Given the description of an element on the screen output the (x, y) to click on. 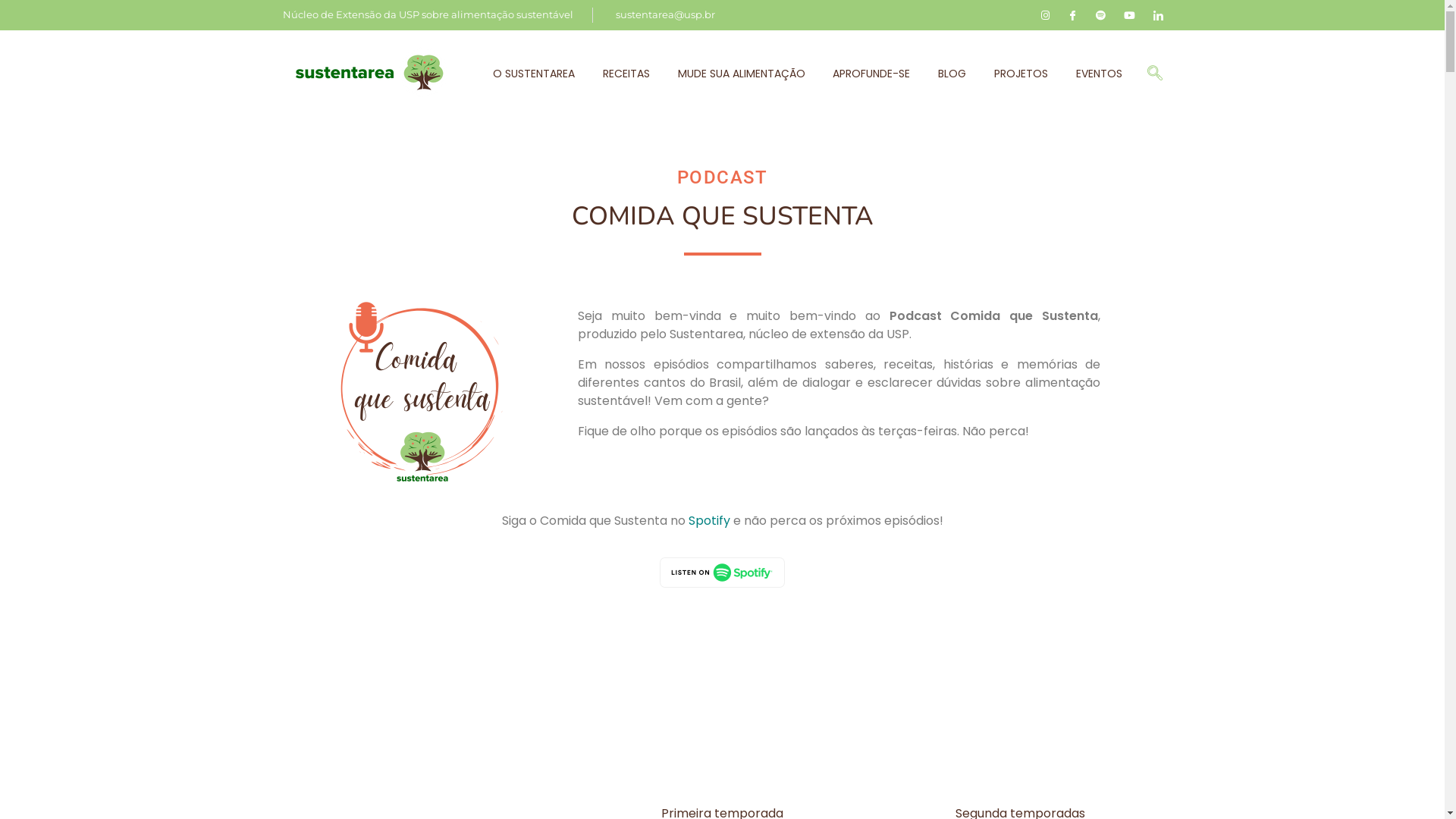
RECEITAS Element type: text (626, 73)
BLOG Element type: text (952, 73)
Sustentarea Element type: hover (371, 71)
Podcast Intertemporada Ep.3 Element type: hover (422, 390)
Spotify Element type: text (709, 520)
Sustentarea Element type: text (343, 107)
EVENTOS Element type: text (1091, 73)
PROJETOS Element type: text (1021, 73)
O SUSTENTAREA Element type: text (540, 73)
